Given the description of an element on the screen output the (x, y) to click on. 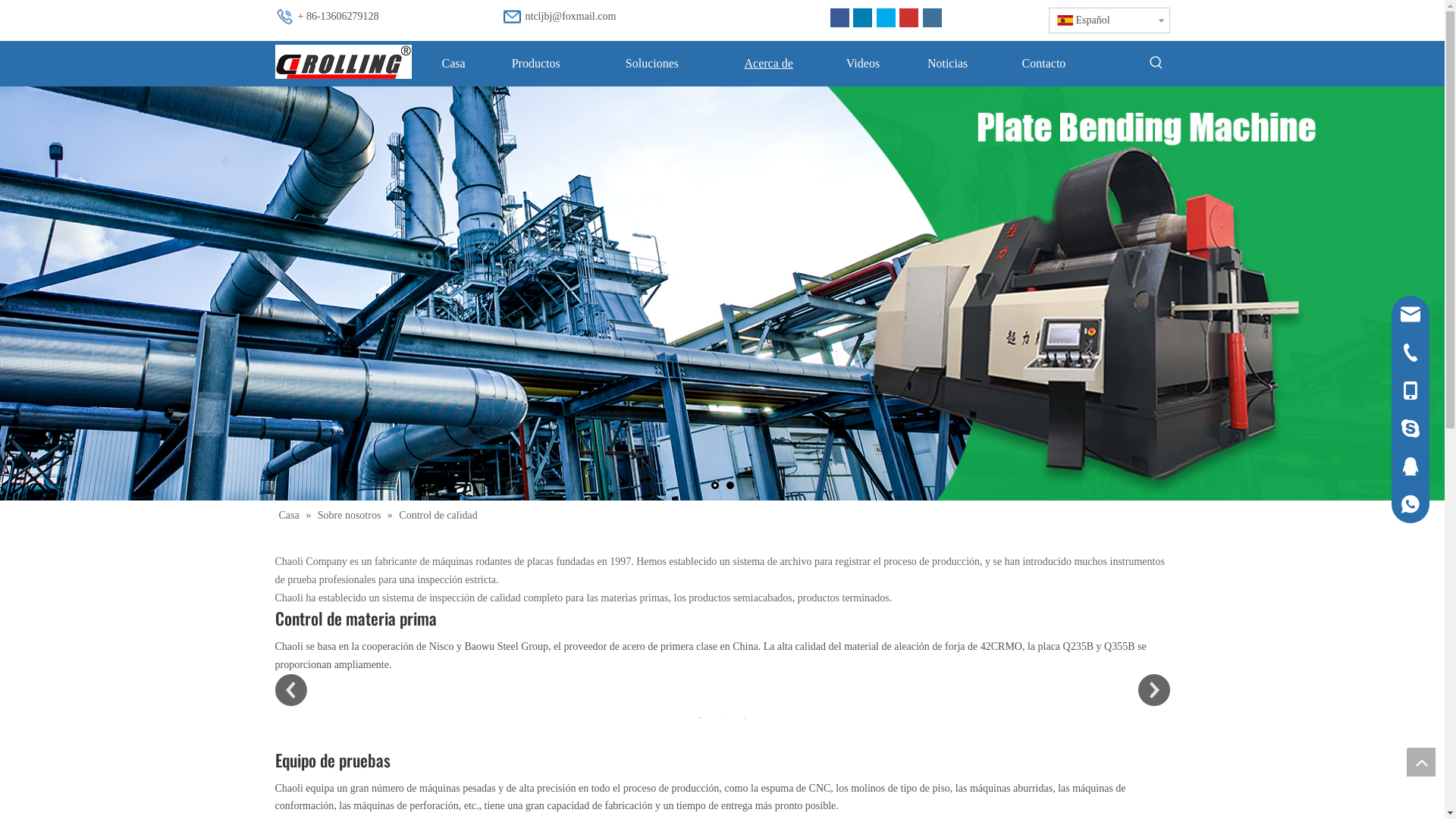
Linkedin Element type: hover (862, 17)
Facebook Element type: hover (838, 17)
ntcljbj@foxmail.com Element type: text (569, 15)
Youtube Element type: hover (908, 17)
Casa Element type: text (453, 63)
Productos Element type: text (535, 63)
Noticias Element type: text (947, 63)
Videos Element type: text (862, 63)
Twitter Element type: hover (885, 17)
Instagram Element type: hover (931, 17)
Contacto Element type: text (1043, 63)
Acerca de Element type: text (768, 63)
Soluciones Element type: text (651, 63)
